Given the description of an element on the screen output the (x, y) to click on. 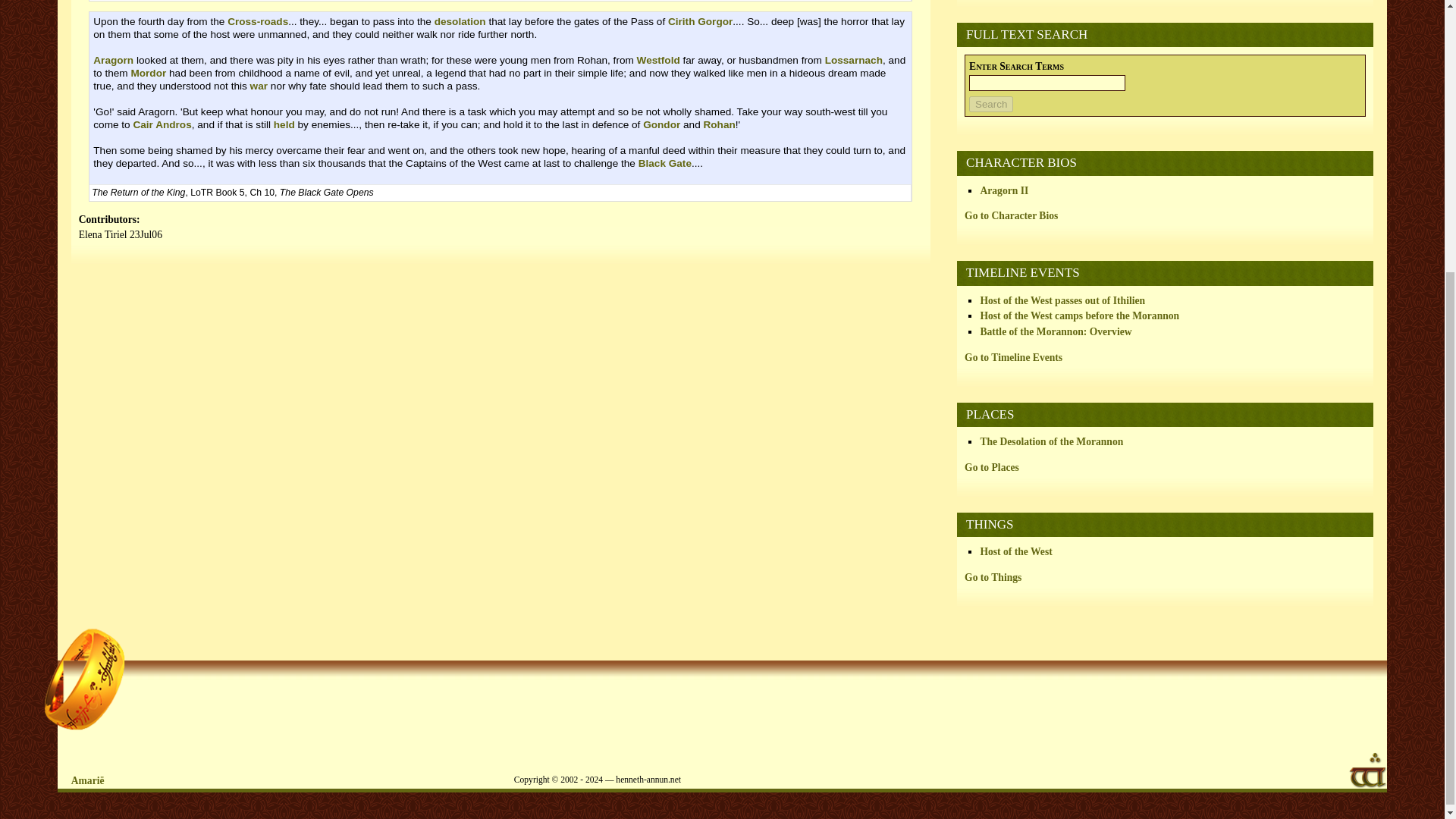
war (258, 85)
Aragorn (113, 60)
Westfold (658, 60)
Rohan (719, 124)
Lossarnach (853, 60)
Gondor (661, 124)
Cross-roads (257, 21)
desolation (459, 21)
Click to view Aragorn II (1003, 189)
Click to view Host of the West camps before the Morannon (1079, 315)
Cair Andros (161, 124)
Click to view Host of the West passes out of Ithilien (1061, 300)
Click to view The Desolation of the Morannon (1050, 441)
Aragorn II (1003, 189)
Click to view Battle of the Morannon: Overview (1055, 331)
